Given the description of an element on the screen output the (x, y) to click on. 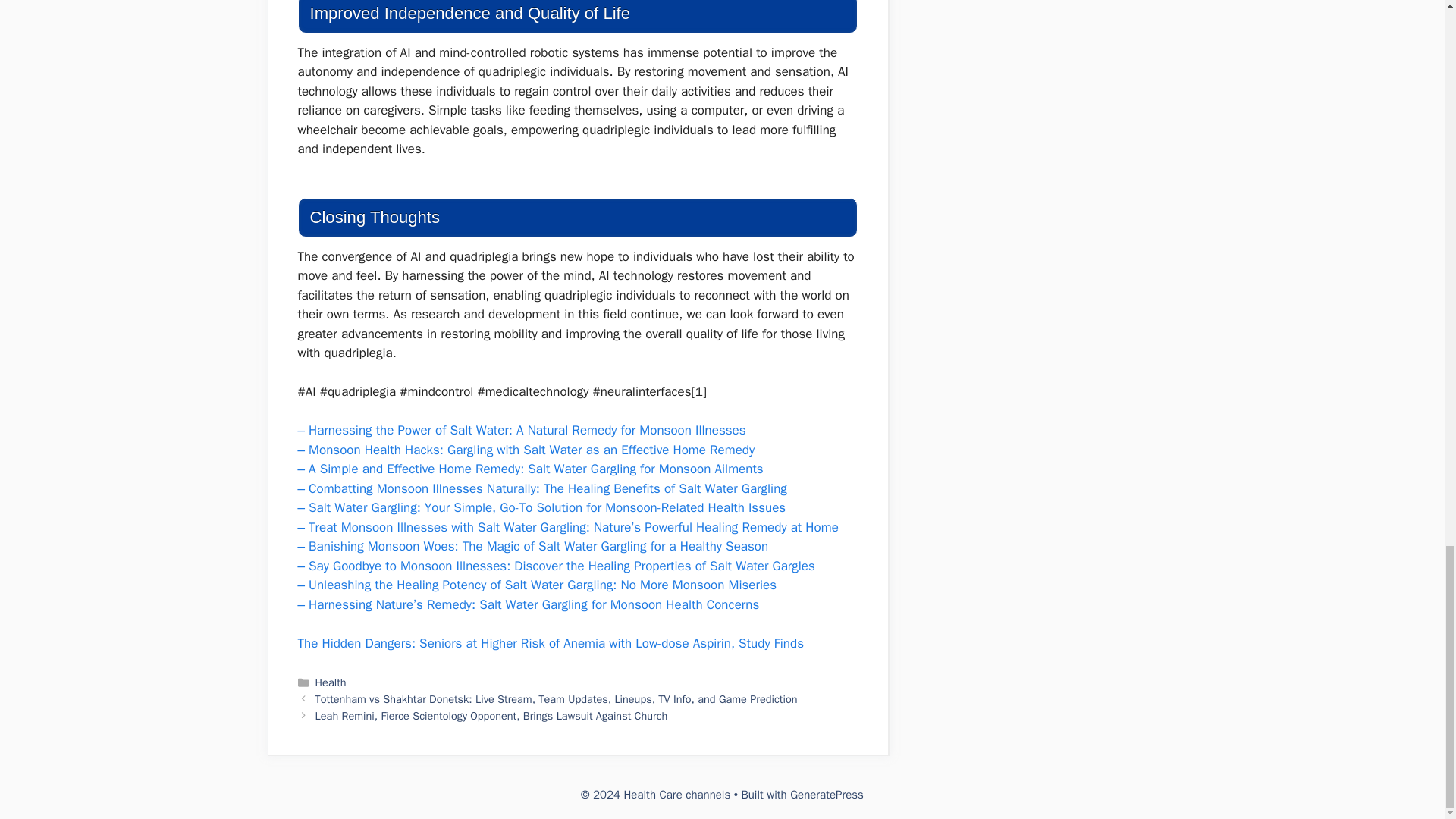
Health (330, 682)
GeneratePress (826, 794)
